Given the description of an element on the screen output the (x, y) to click on. 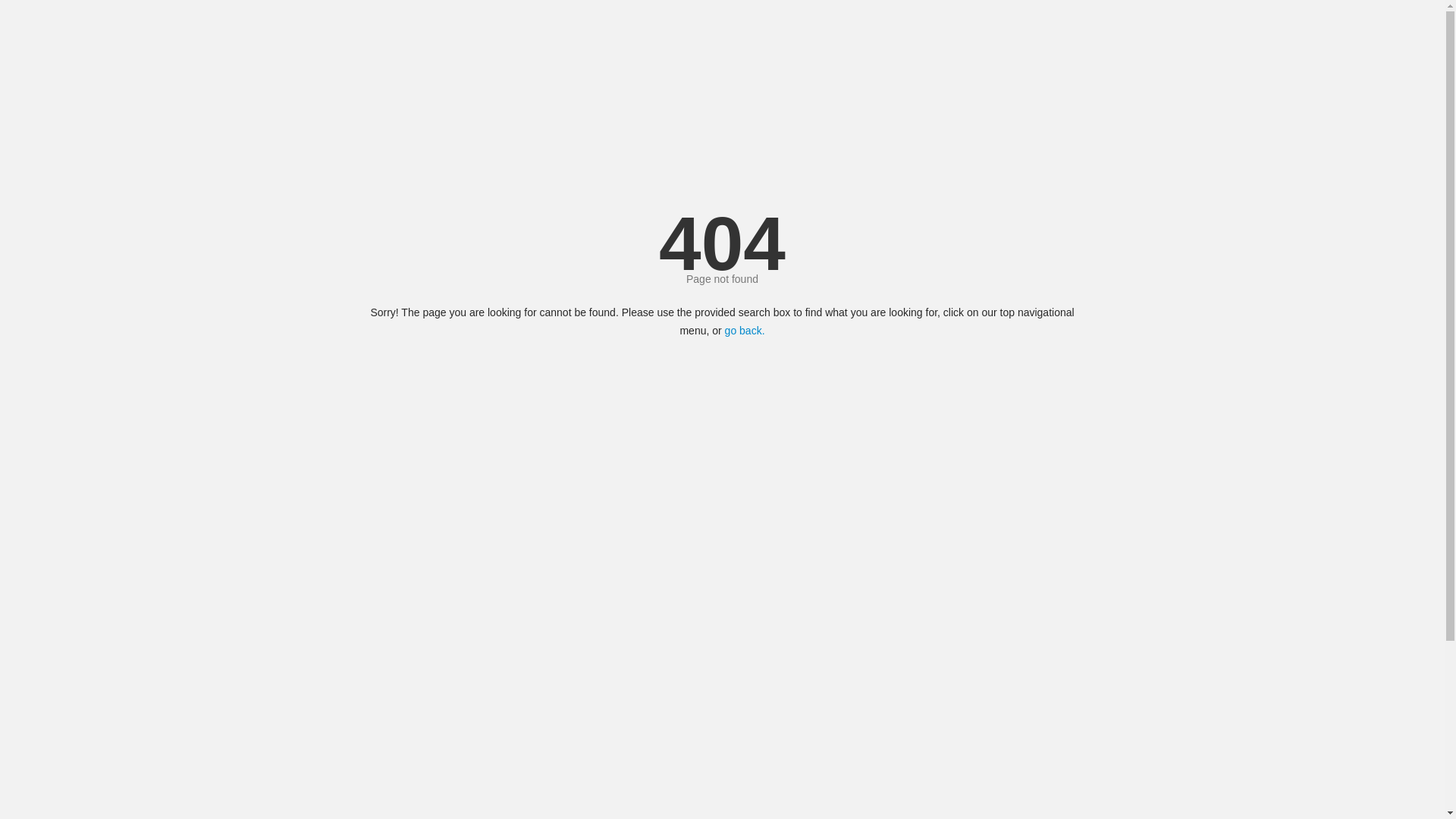
go back. Element type: text (744, 330)
